Given the description of an element on the screen output the (x, y) to click on. 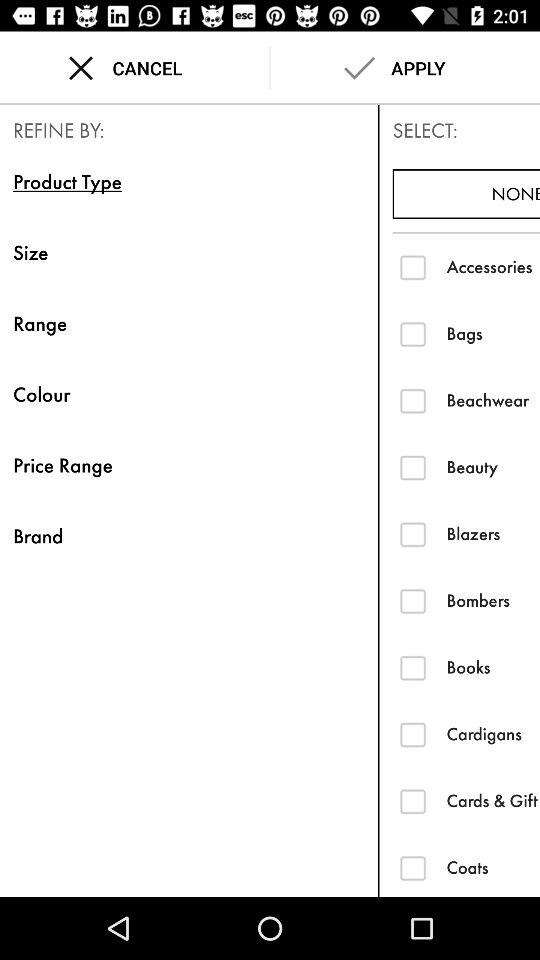
beachwear option checkbox (412, 400)
